Given the description of an element on the screen output the (x, y) to click on. 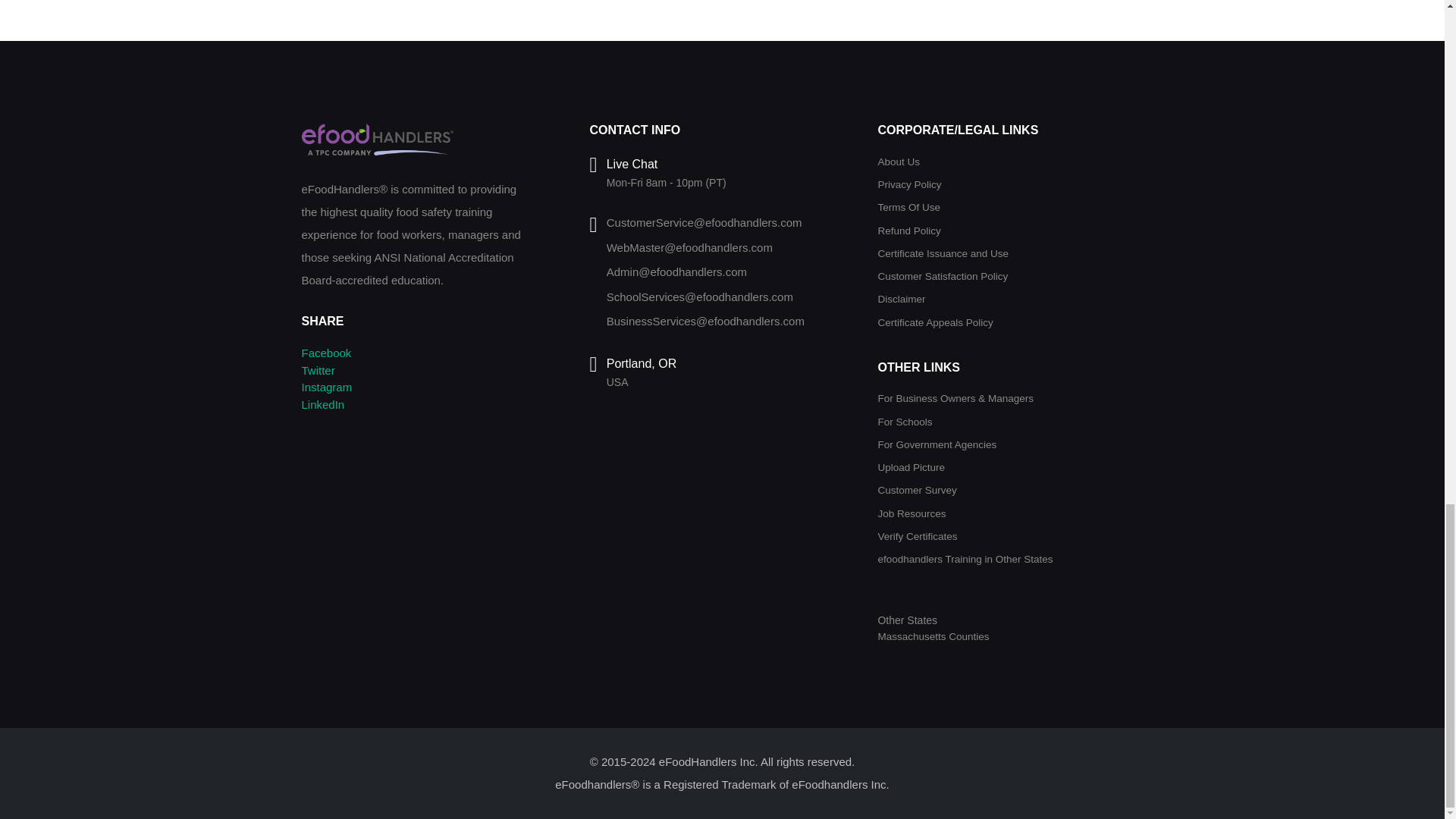
Twitter (317, 369)
Facebook (326, 352)
